Given the description of an element on the screen output the (x, y) to click on. 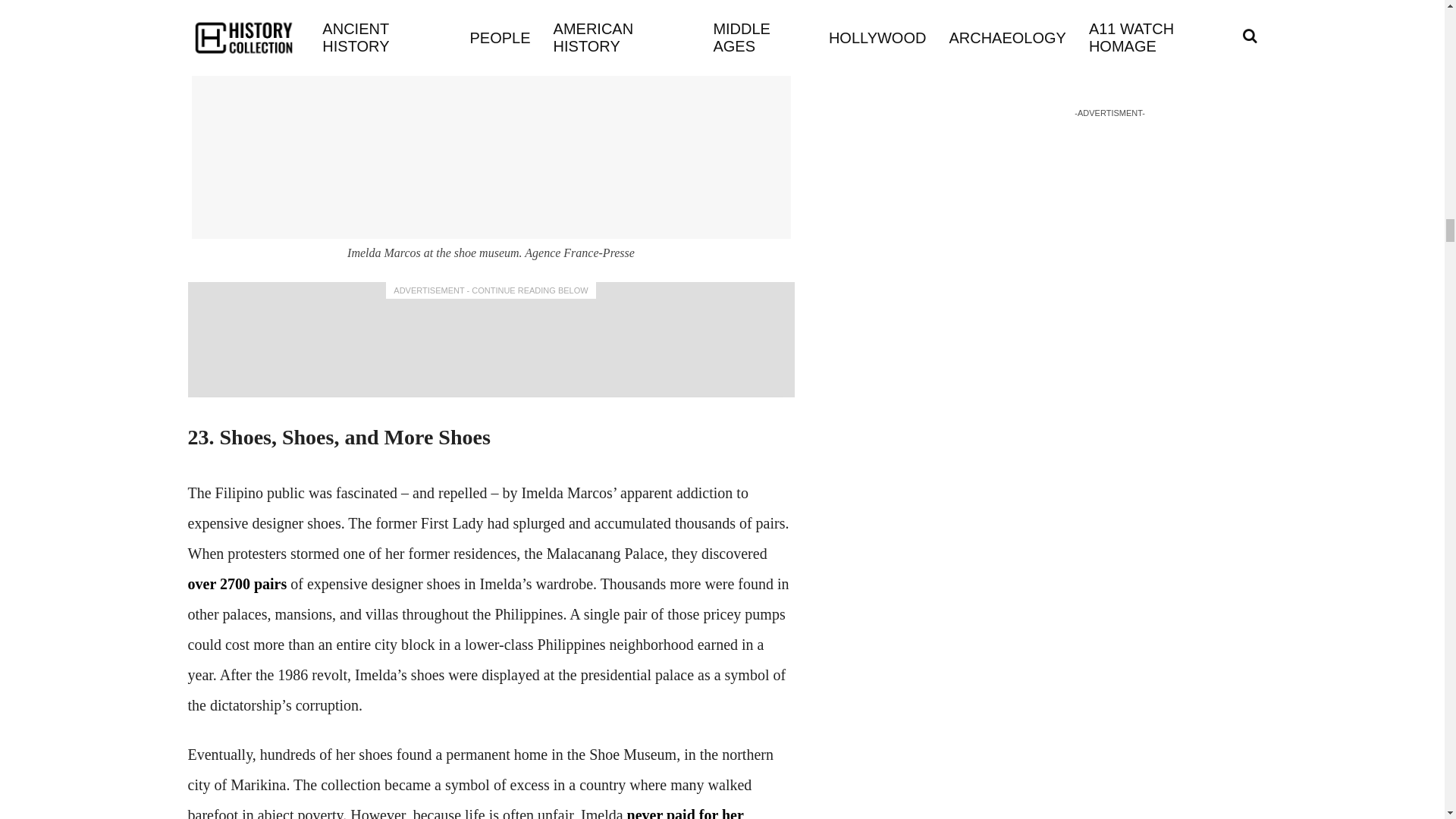
never paid for her corruption (465, 812)
over 2700 pairs (236, 583)
